Given the description of an element on the screen output the (x, y) to click on. 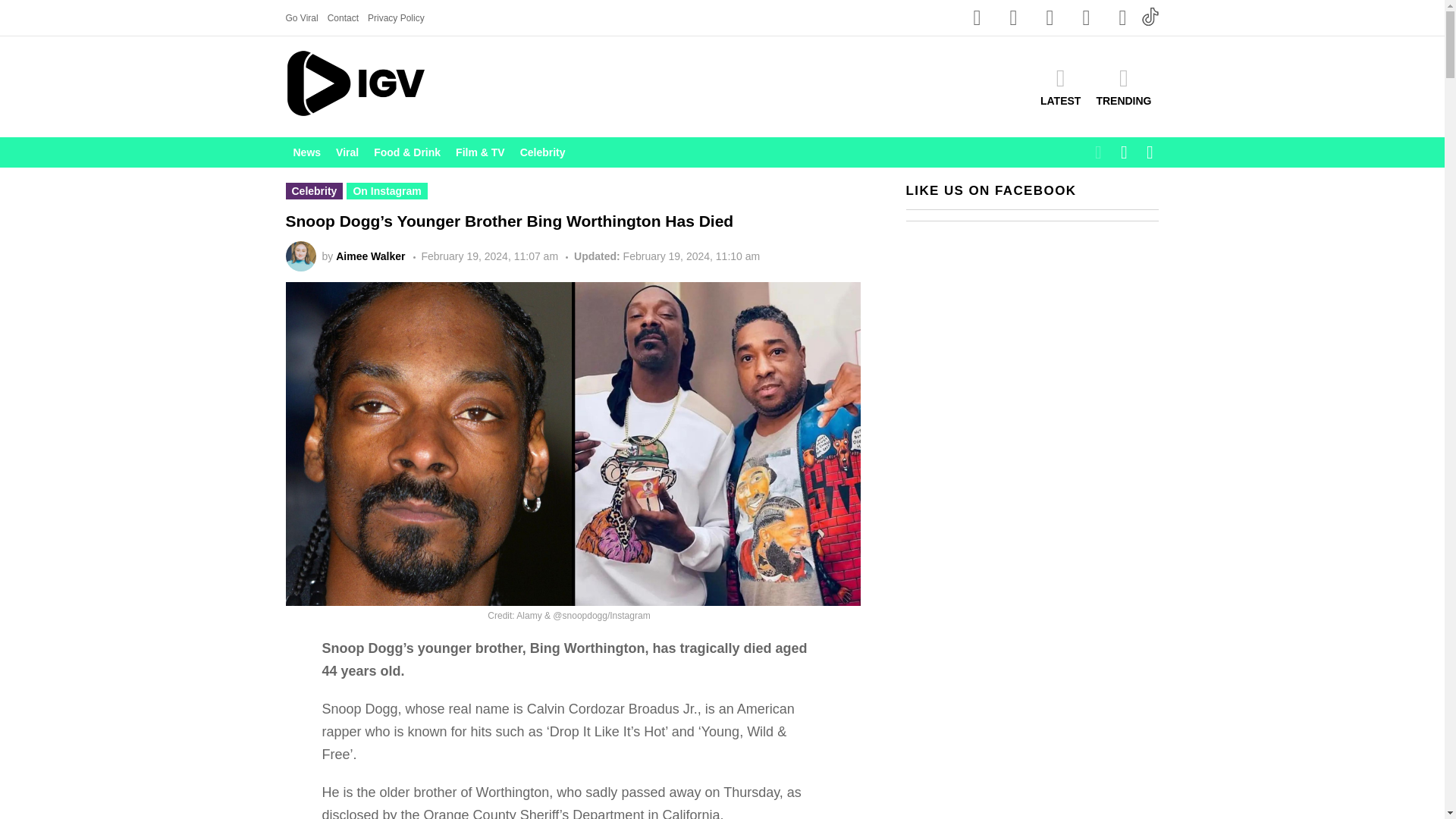
Celebrity (542, 151)
Posts by Aimee Walker (370, 256)
twitter (1085, 18)
Contact (342, 17)
youtube (1048, 18)
LATEST (1059, 86)
instagram (1012, 18)
News (307, 151)
pinterest (1121, 18)
TRENDING (1122, 86)
facebook (976, 18)
Viral (347, 151)
Privacy Policy (396, 17)
Go Viral (301, 17)
tiktok (1149, 16)
